Given the description of an element on the screen output the (x, y) to click on. 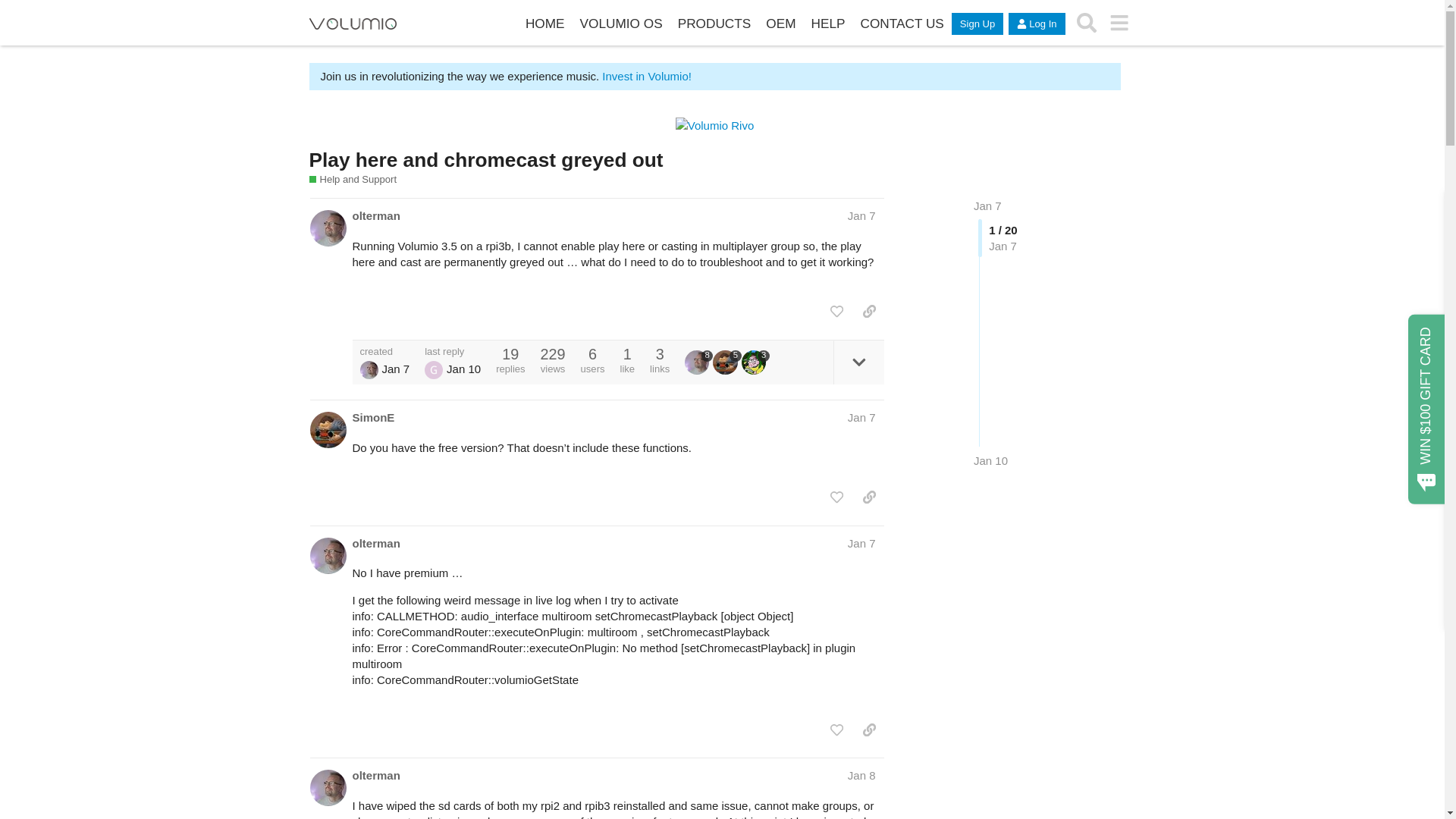
Search (1086, 22)
olterman (375, 215)
share a link to this post (869, 310)
Invest in Volumio! (644, 75)
5 (727, 362)
Help Center (828, 23)
OEM and Enterprise Custom Solutions (780, 23)
3 (755, 362)
Post date (861, 215)
Jan 7 (987, 205)
